Given the description of an element on the screen output the (x, y) to click on. 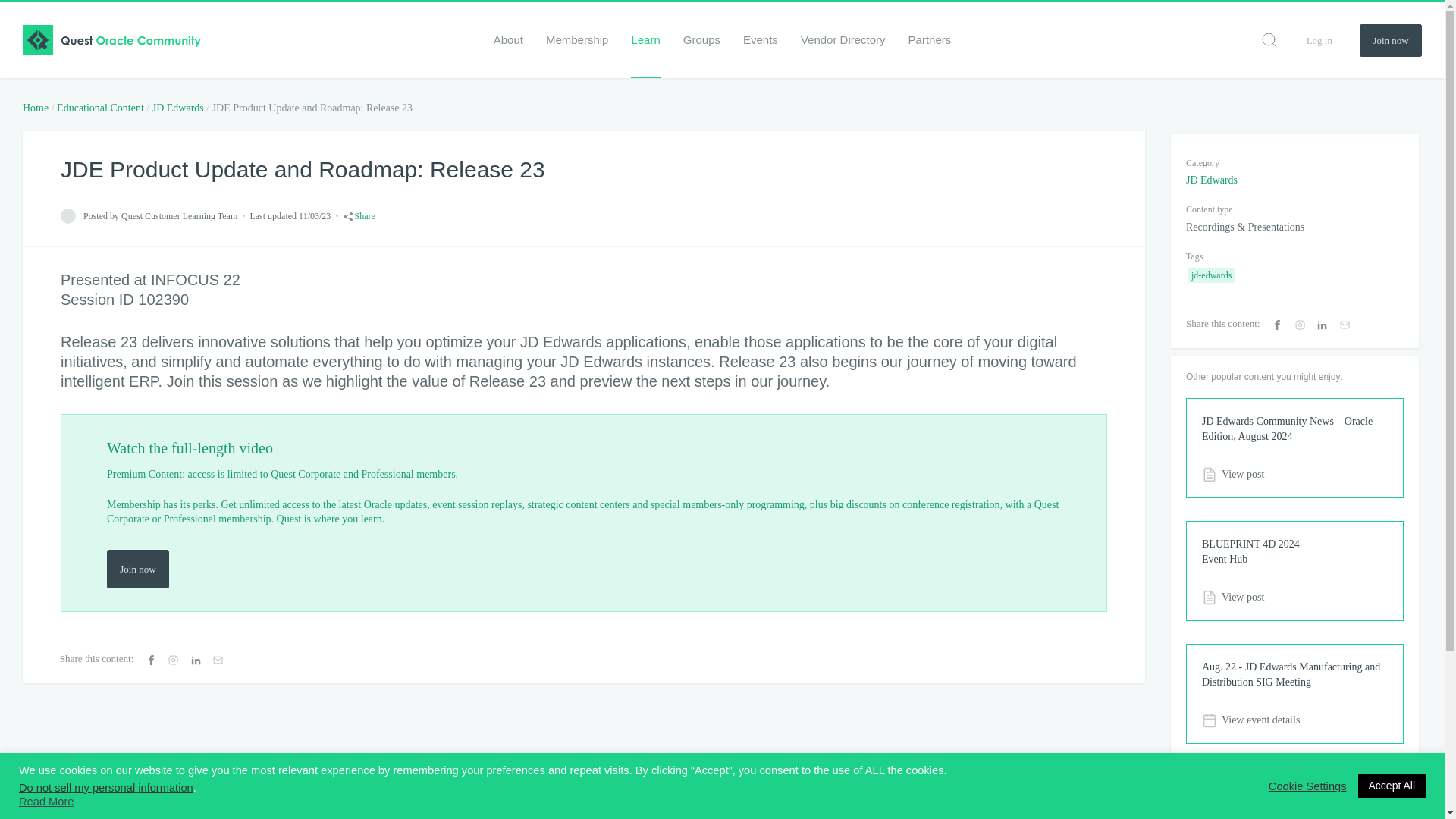
Home (35, 107)
Membership (577, 39)
Partners (930, 39)
Groups (701, 39)
jd-edwards (1211, 274)
Educational Content (100, 107)
Events (759, 39)
Share (359, 215)
Learn (644, 39)
Join now (137, 568)
